Given the description of an element on the screen output the (x, y) to click on. 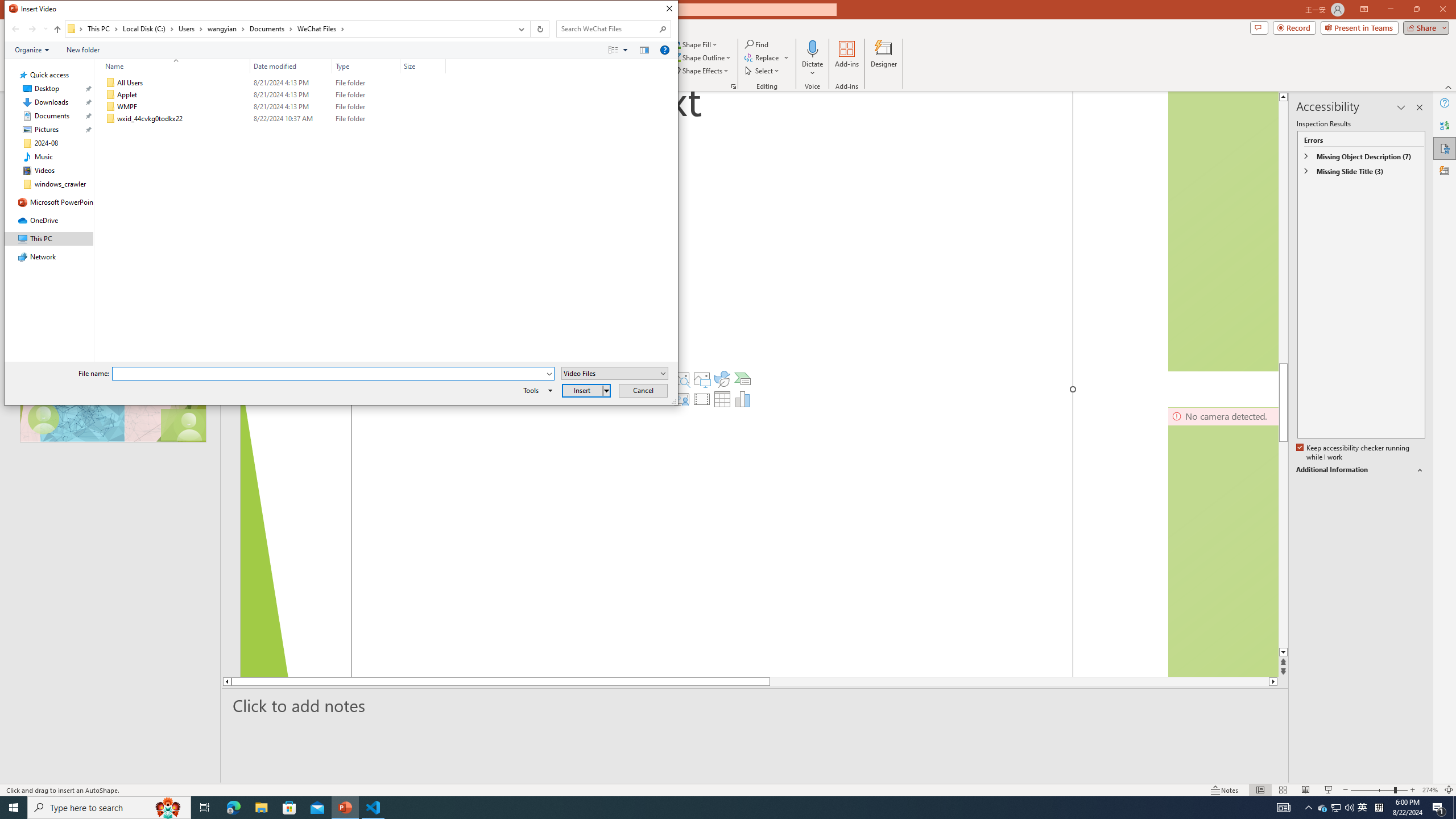
Refresh "WeChat Files" (F5) (538, 28)
Address band toolbar (529, 28)
File name: (329, 373)
Filter dropdown (440, 65)
All locations (75, 28)
Applet (273, 94)
This PC (102, 28)
Class: UIImage (111, 119)
WMPF (273, 106)
